Given the description of an element on the screen output the (x, y) to click on. 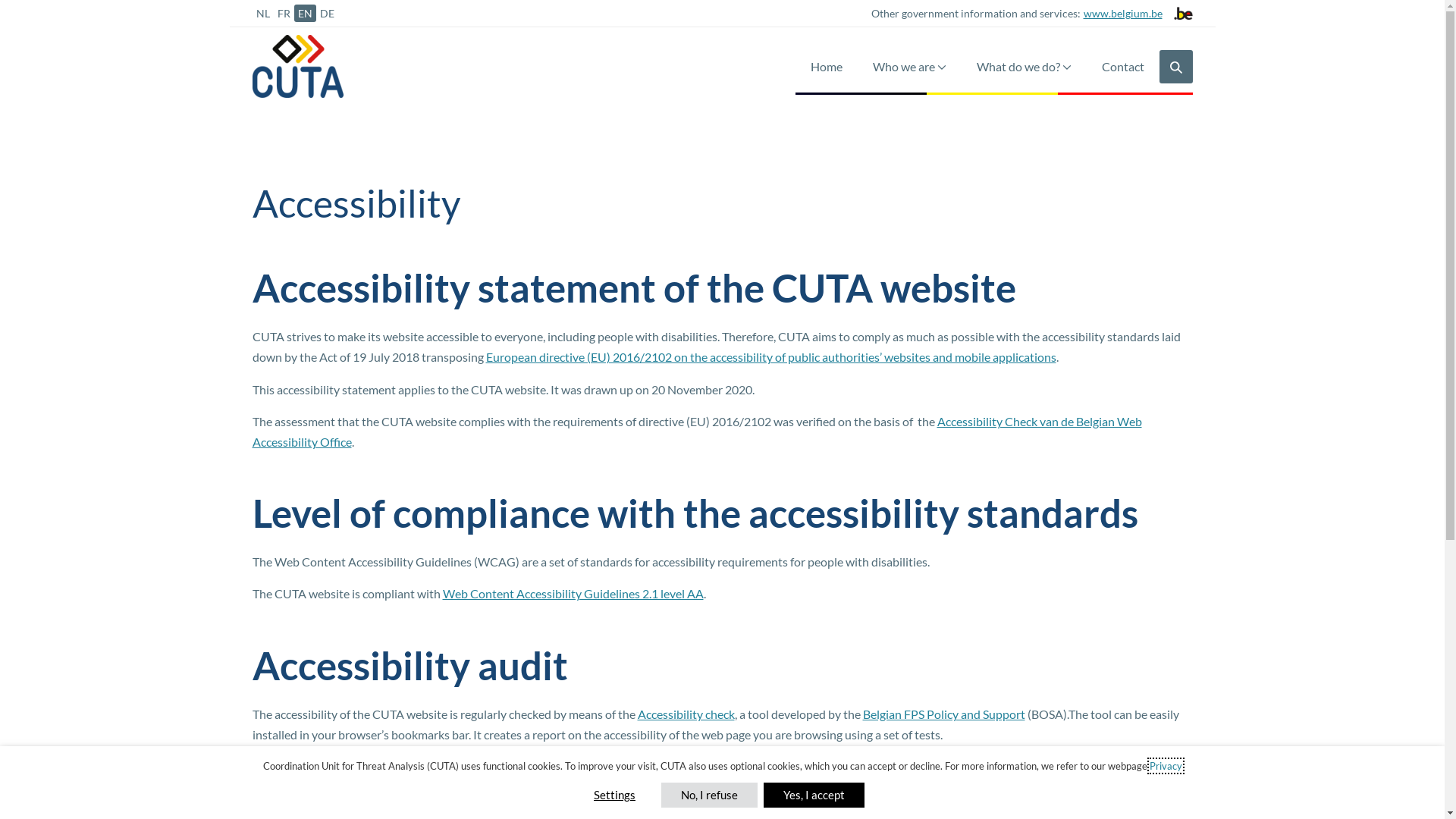
Logo Cuta Element type: hover (296, 65)
FR Element type: text (283, 13)
NL Element type: text (262, 13)
Accessibility Check van de Belgian Web Accessibility Office Element type: text (696, 431)
Search Toggle Element type: text (1175, 66)
www.belgium.be Element type: text (1120, 13)
What do we do? Element type: text (1023, 66)
DE Element type: text (326, 13)
No, I refuse Element type: text (709, 794)
Who we are Element type: text (908, 66)
Web Content Accessibility Guidelines 2.1 level AA Element type: text (572, 593)
Settings Element type: text (614, 794)
Yes, I accept Element type: text (813, 794)
Accessibility check Element type: text (685, 713)
Privacy Element type: text (1165, 765)
Belgian FPS Policy and Support Element type: text (943, 713)
Home Element type: text (825, 66)
EN Element type: text (305, 13)
Contact Element type: text (1121, 66)
